Given the description of an element on the screen output the (x, y) to click on. 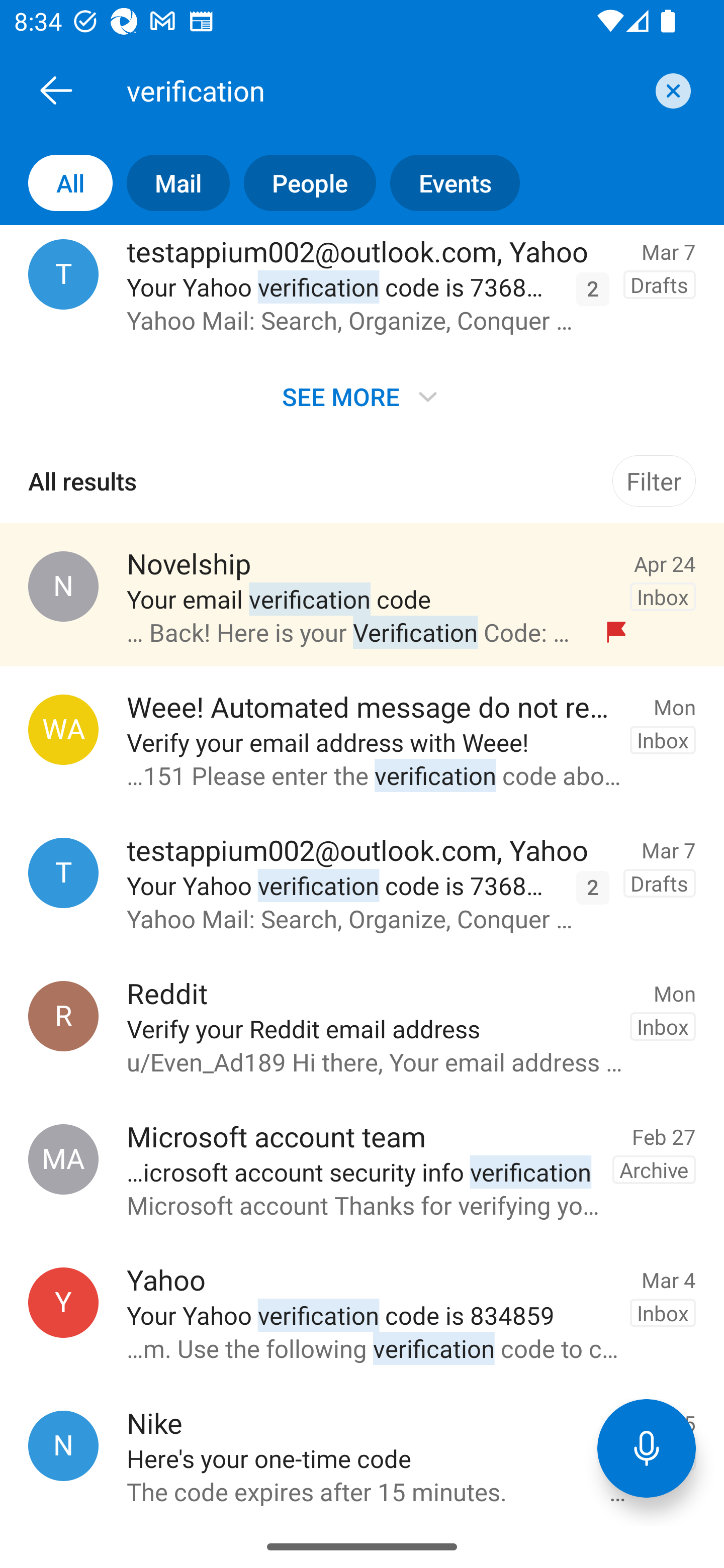
Back (55, 89)
verification (384, 89)
clear search (670, 90)
Mail (170, 183)
People (302, 183)
Events (447, 183)
SEE MORE See More (362, 396)
Filter (653, 480)
Voice Assistant (646, 1447)
